Given the description of an element on the screen output the (x, y) to click on. 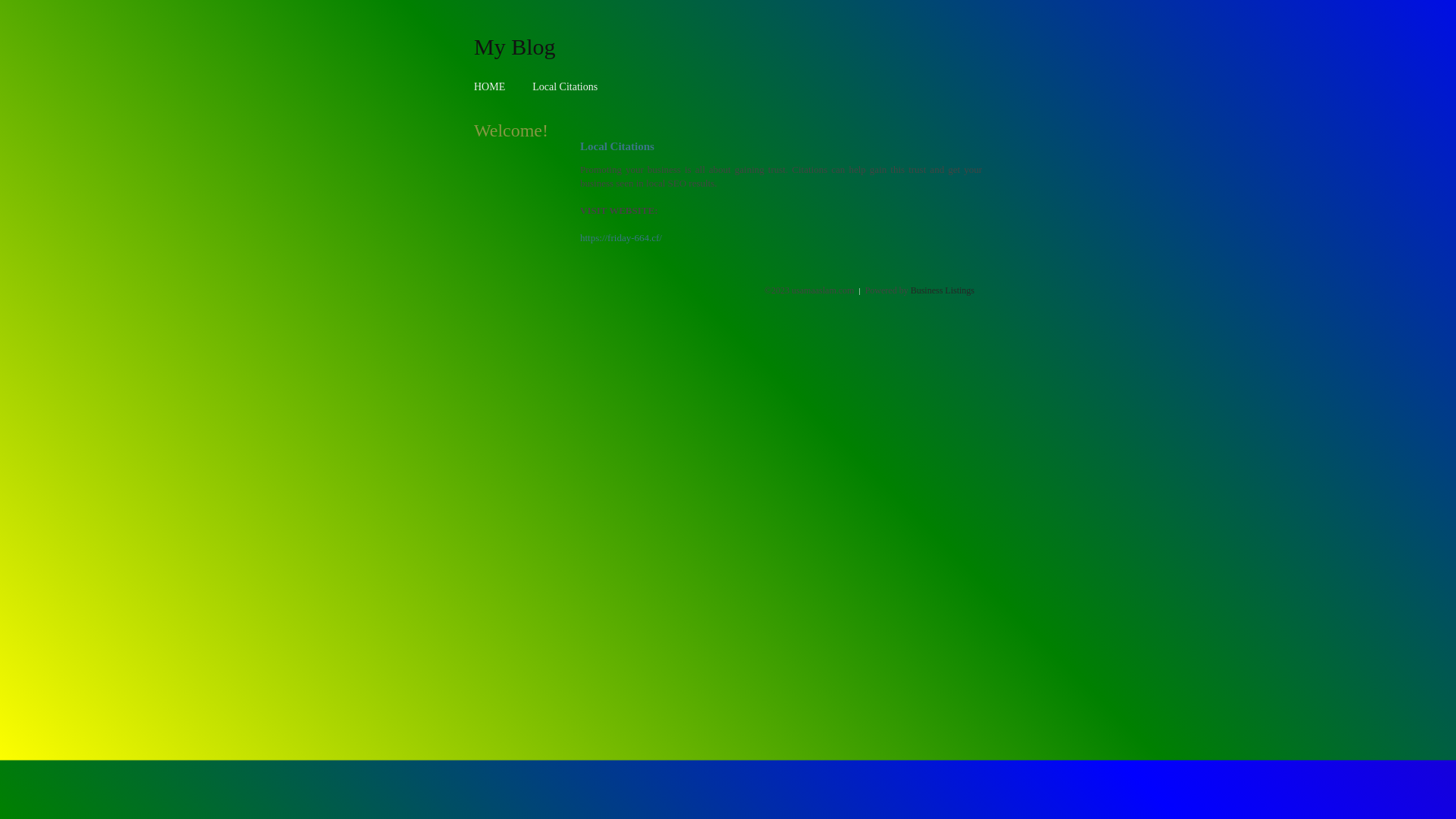
Local Citations Element type: text (564, 86)
Business Listings Element type: text (942, 290)
https://friday-664.cf/ Element type: text (621, 237)
HOME Element type: text (489, 86)
My Blog Element type: text (514, 46)
